Given the description of an element on the screen output the (x, y) to click on. 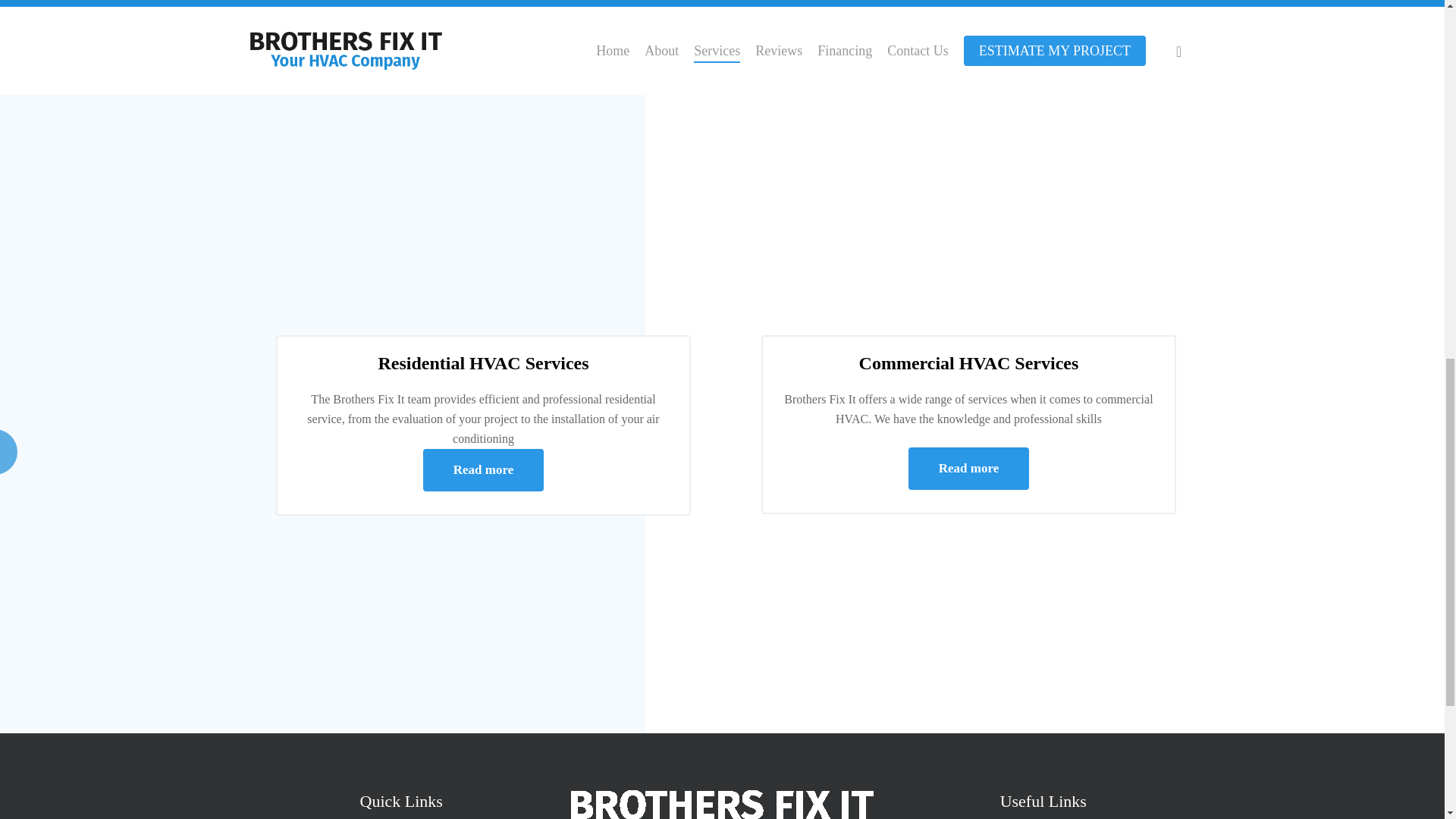
Read more (483, 469)
Read more (968, 468)
